Given the description of an element on the screen output the (x, y) to click on. 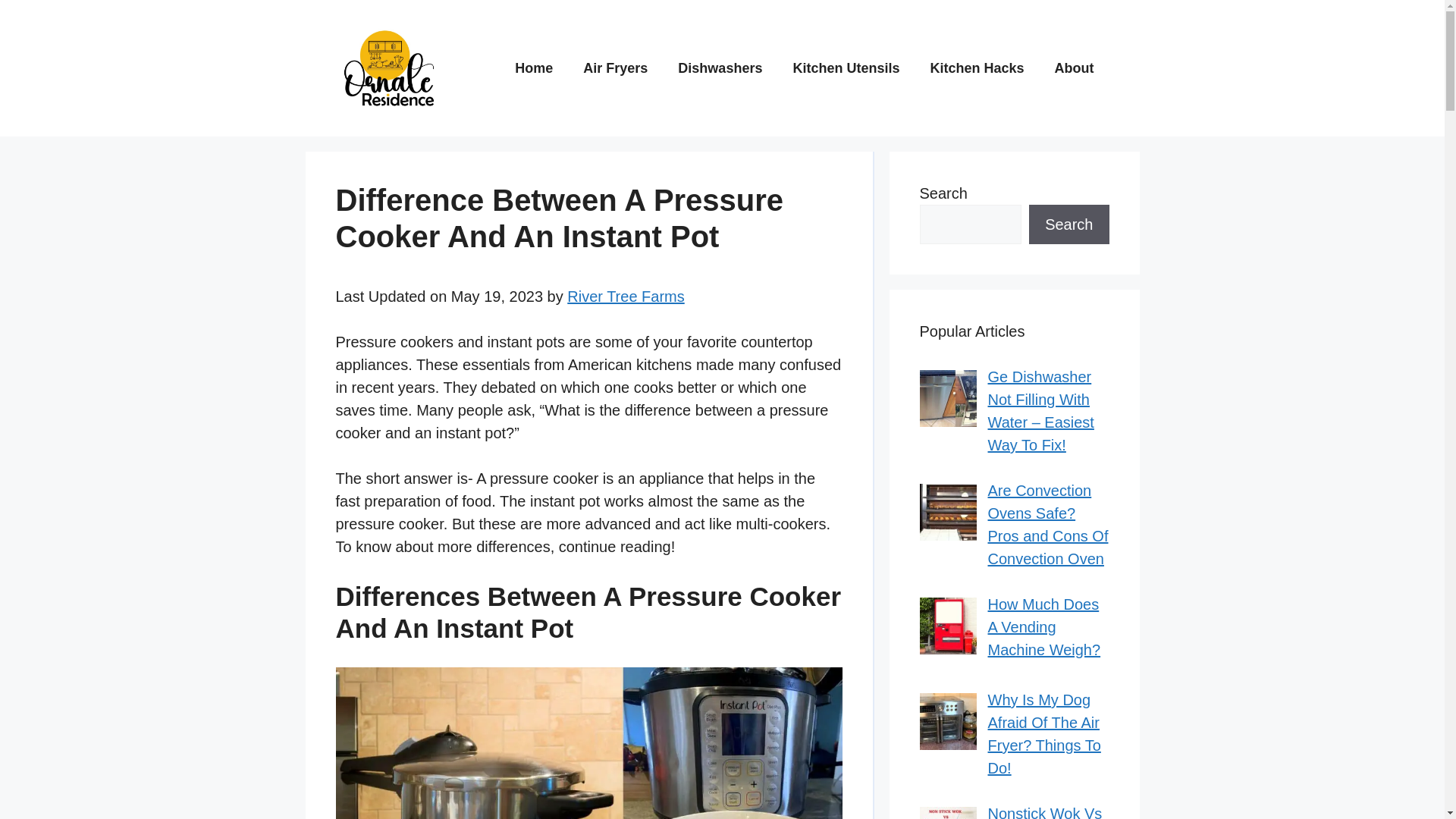
Dishwashers (719, 67)
Are Convection Ovens Safe? Pros and Cons Of Convection Oven (1047, 524)
Search (1068, 224)
Air Fryers (614, 67)
Kitchen Utensils (845, 67)
Kitchen Hacks (976, 67)
Nonstick Wok Vs Carbon Steel Wok: Which Is Better? (1044, 812)
About (1074, 67)
Home (533, 67)
How Much Does A Vending Machine Weigh? (1043, 627)
Why Is My Dog Afraid Of The Air Fryer? Things To Do! (1043, 733)
River Tree Farms (625, 296)
